Given the description of an element on the screen output the (x, y) to click on. 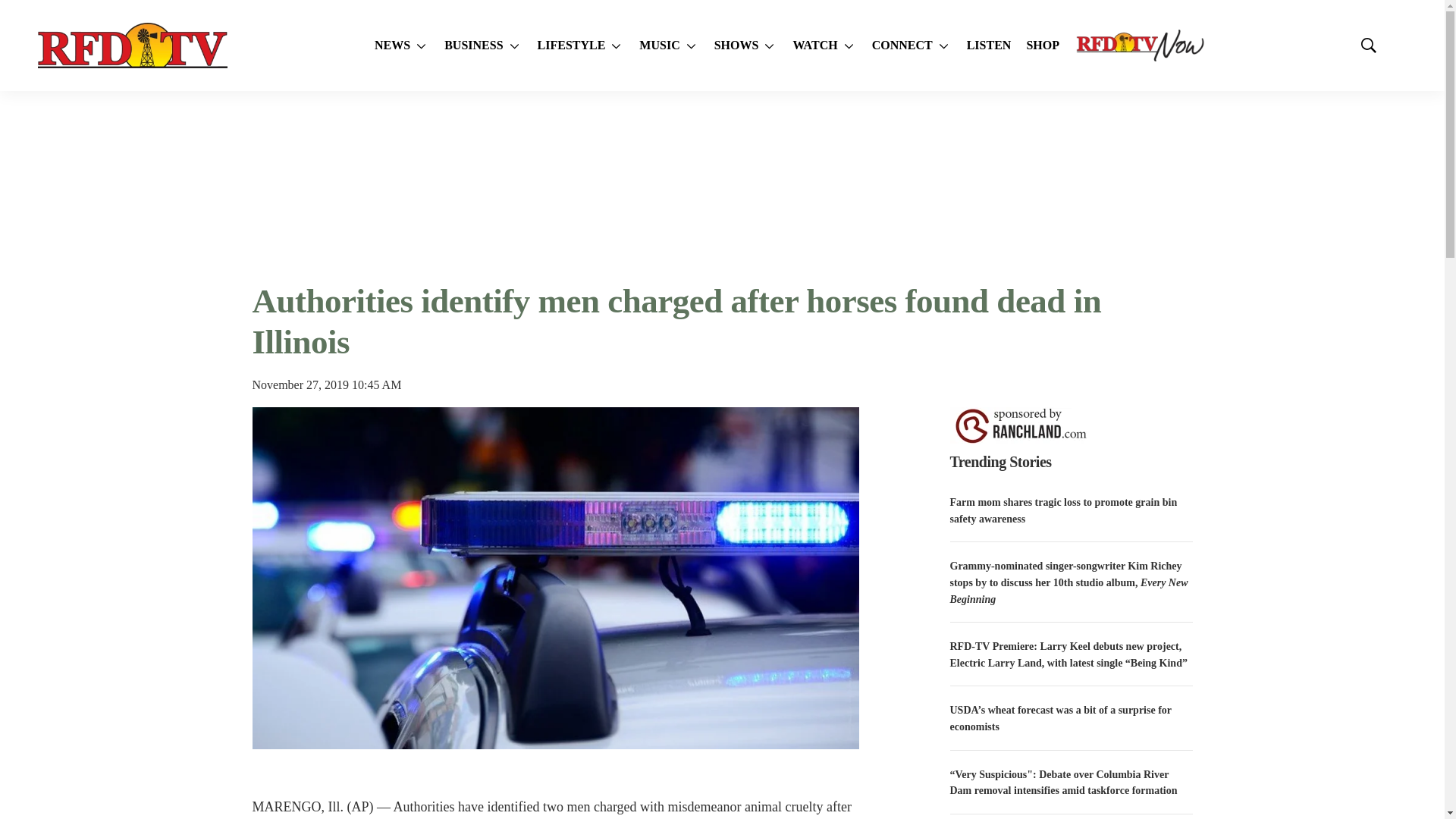
3rd party ad content (721, 185)
